Given the description of an element on the screen output the (x, y) to click on. 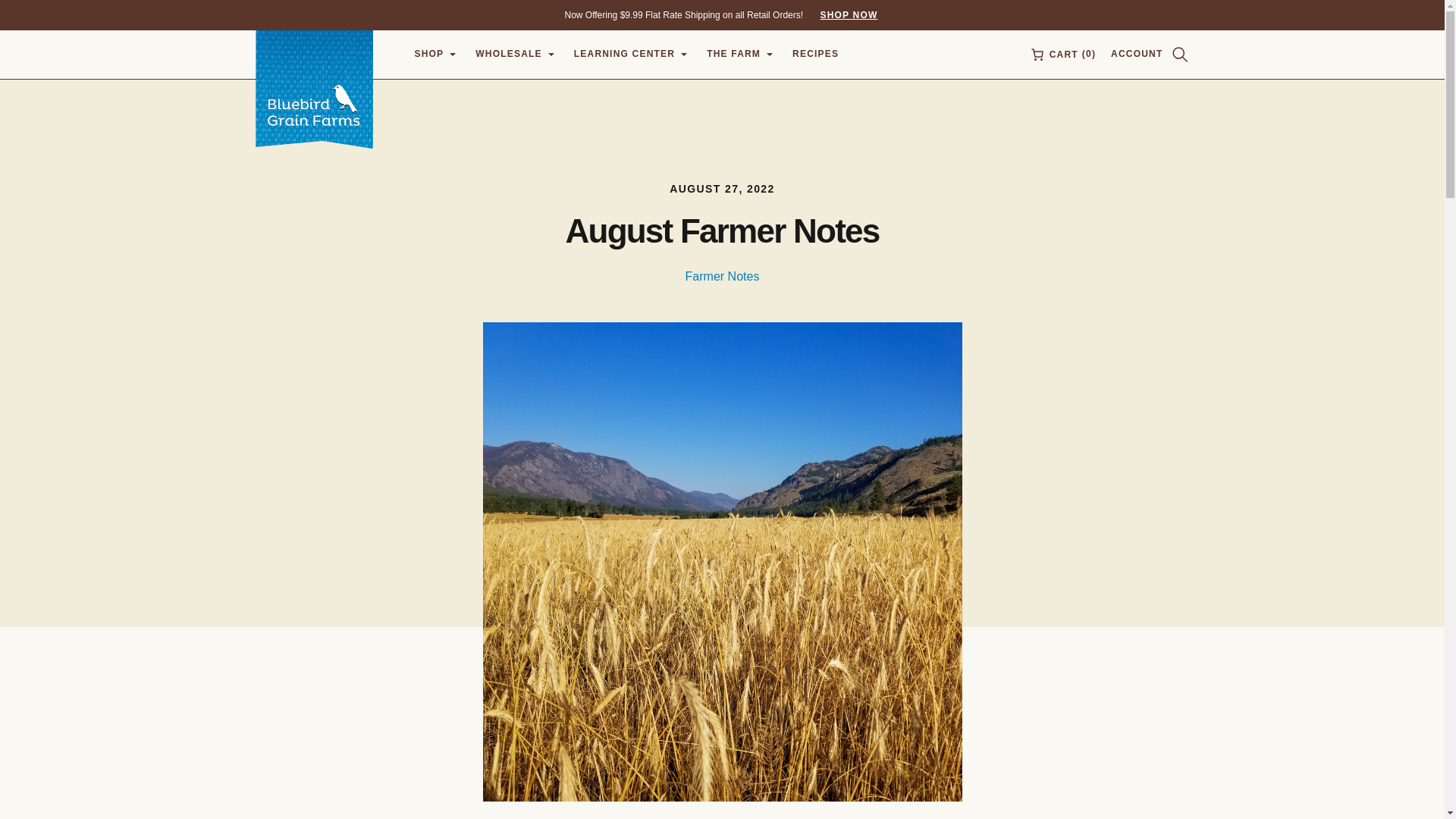
Cart (1061, 54)
Bluebird logo (841, 14)
